Given the description of an element on the screen output the (x, y) to click on. 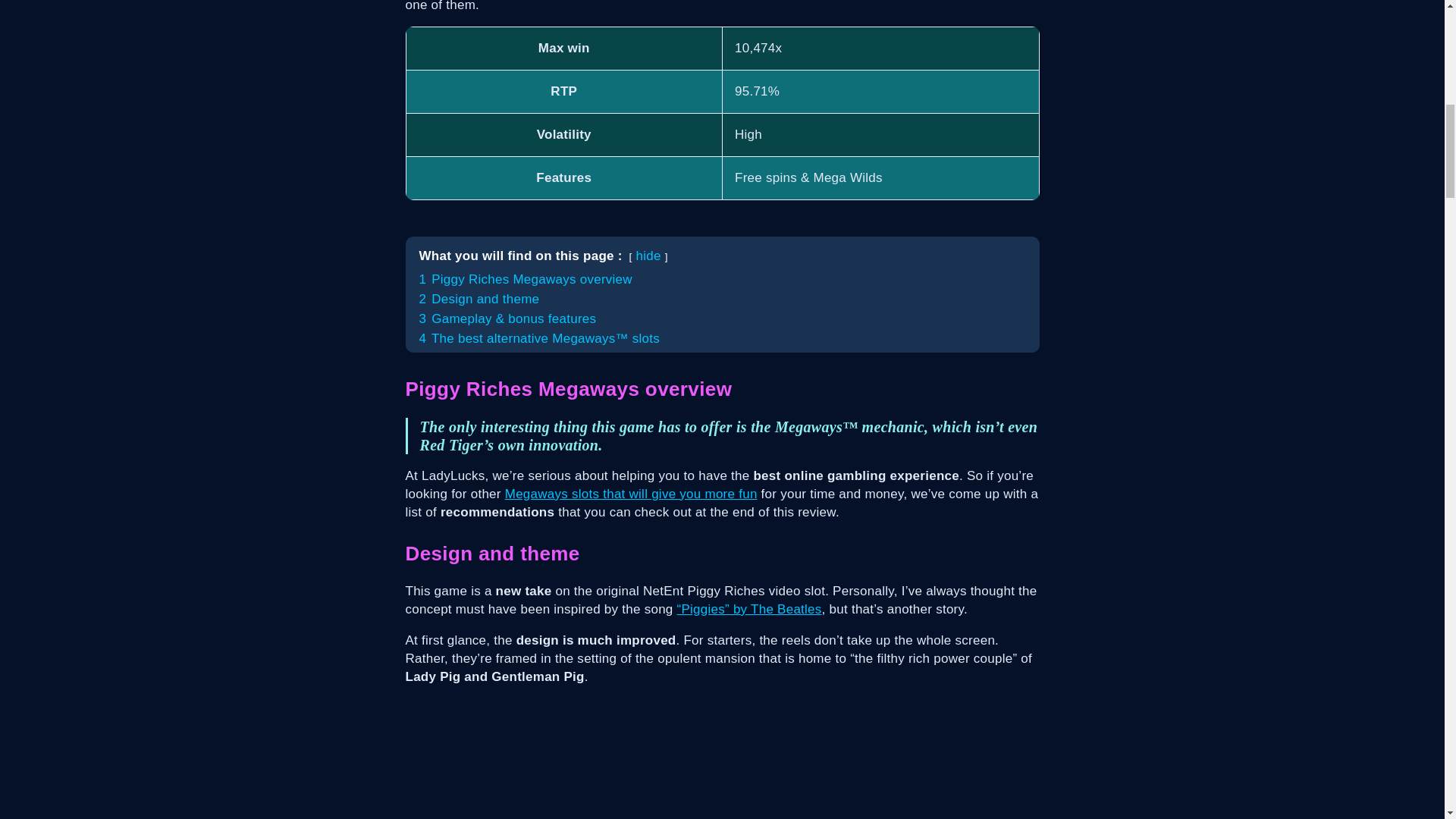
Megaways slots that will give you more fun (631, 493)
hide (648, 255)
1 Piggy Riches Megaways overview (525, 278)
2 Design and theme (478, 298)
